Given the description of an element on the screen output the (x, y) to click on. 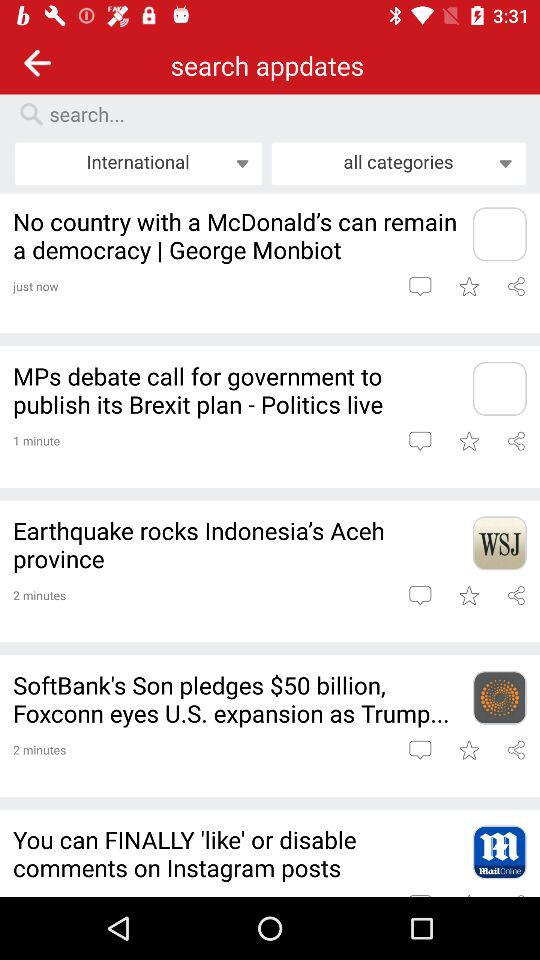
comment (419, 749)
